Given the description of an element on the screen output the (x, y) to click on. 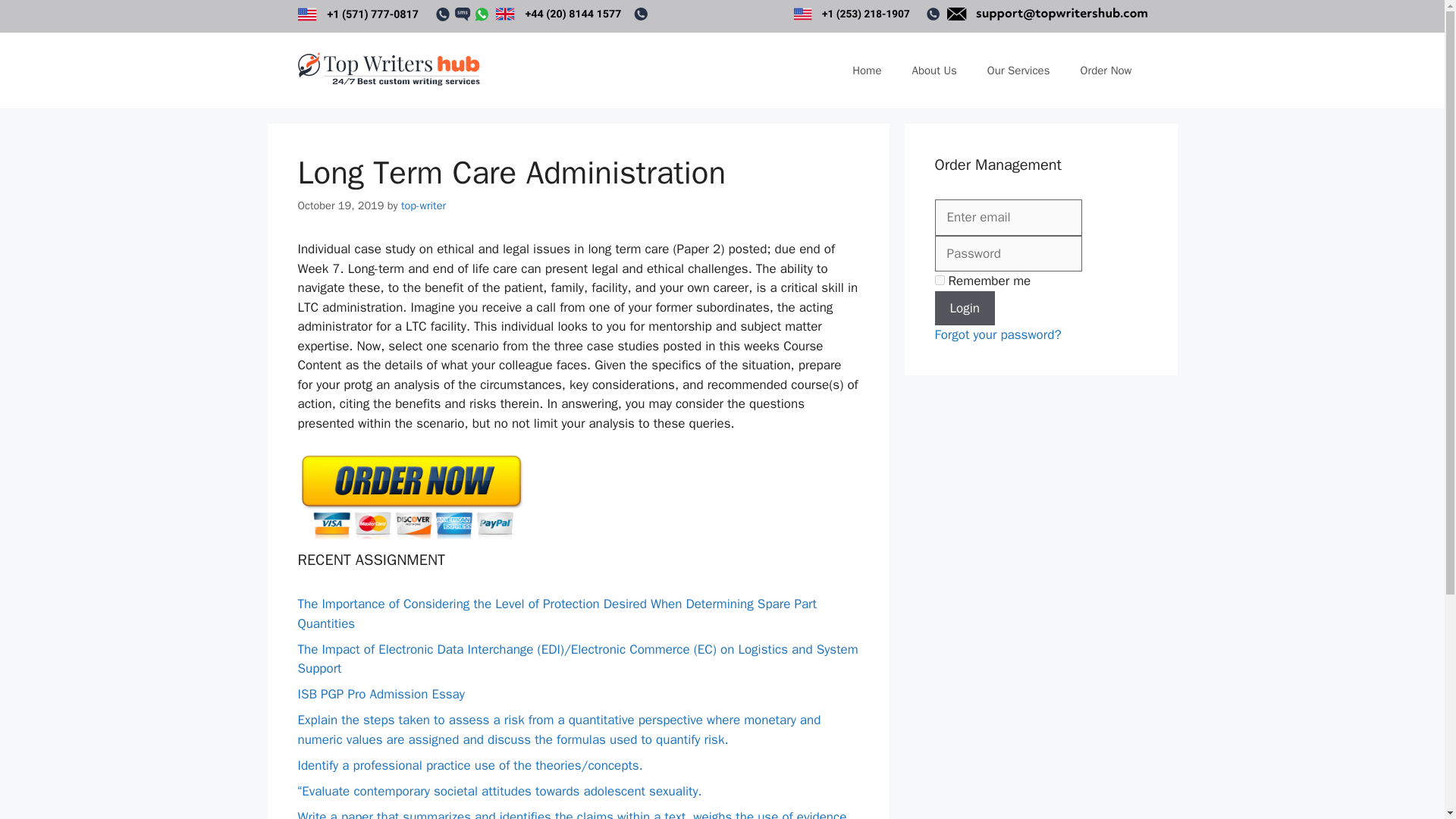
click to Login (964, 308)
Login (964, 308)
Forgot your password? (997, 334)
top-writer (423, 205)
Recover password (997, 334)
View all posts by top-writer (423, 205)
Home (866, 70)
ISB PGP Pro Admission Essay (380, 693)
About Us (933, 70)
